Given the description of an element on the screen output the (x, y) to click on. 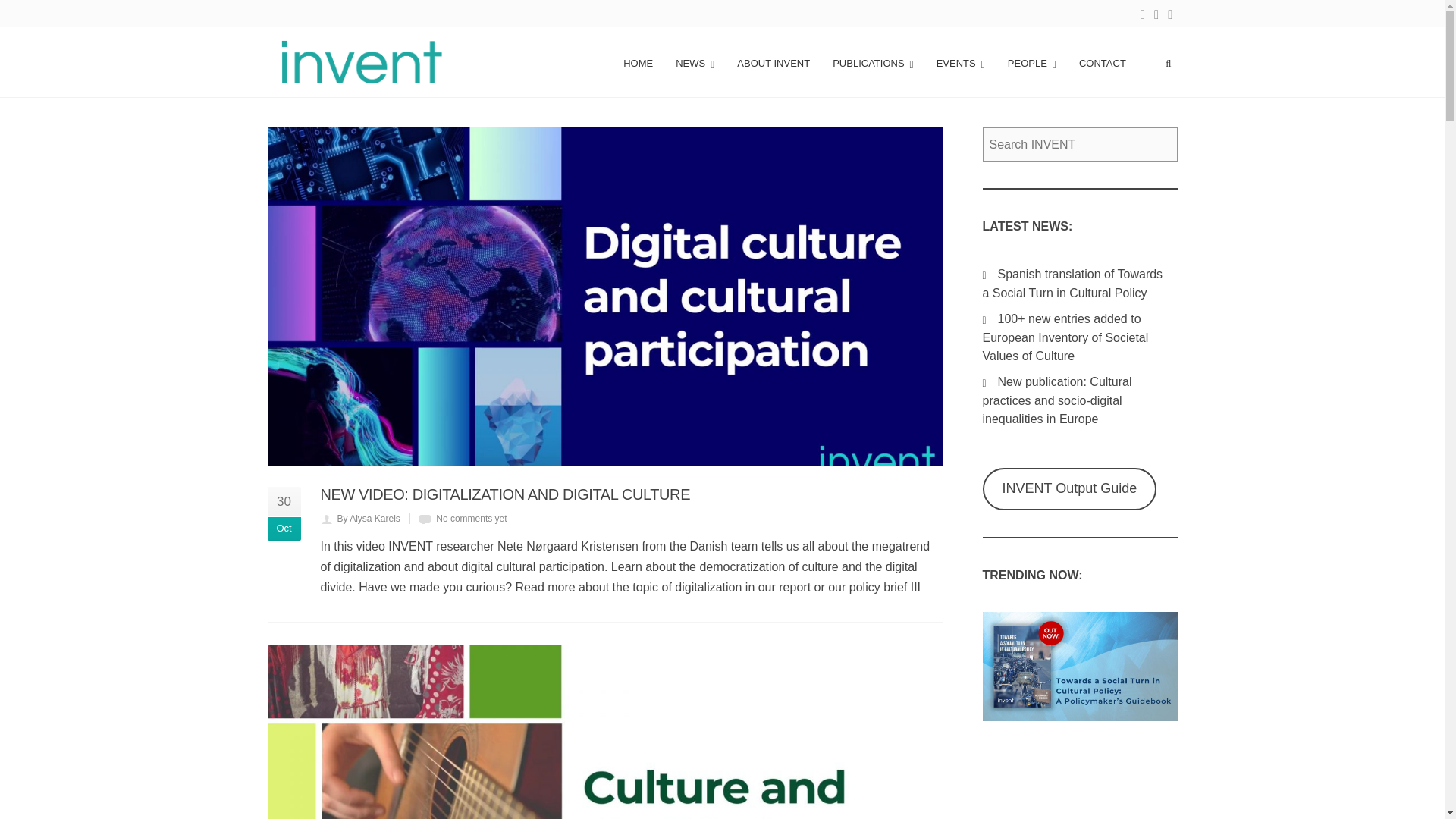
PUBLICATIONS (872, 62)
Twitter (1156, 15)
EVENTS (959, 62)
NEWS (694, 62)
Facebook (1169, 15)
ABOUT INVENT (773, 62)
CONTACT (1102, 62)
PEOPLE (1031, 62)
HOME (637, 62)
New video: What Culture Can Mean for Well-Being (604, 732)
Permalink to New video: Digitalization and Digital Culture (505, 493)
LinkedIN (1142, 15)
